Given the description of an element on the screen output the (x, y) to click on. 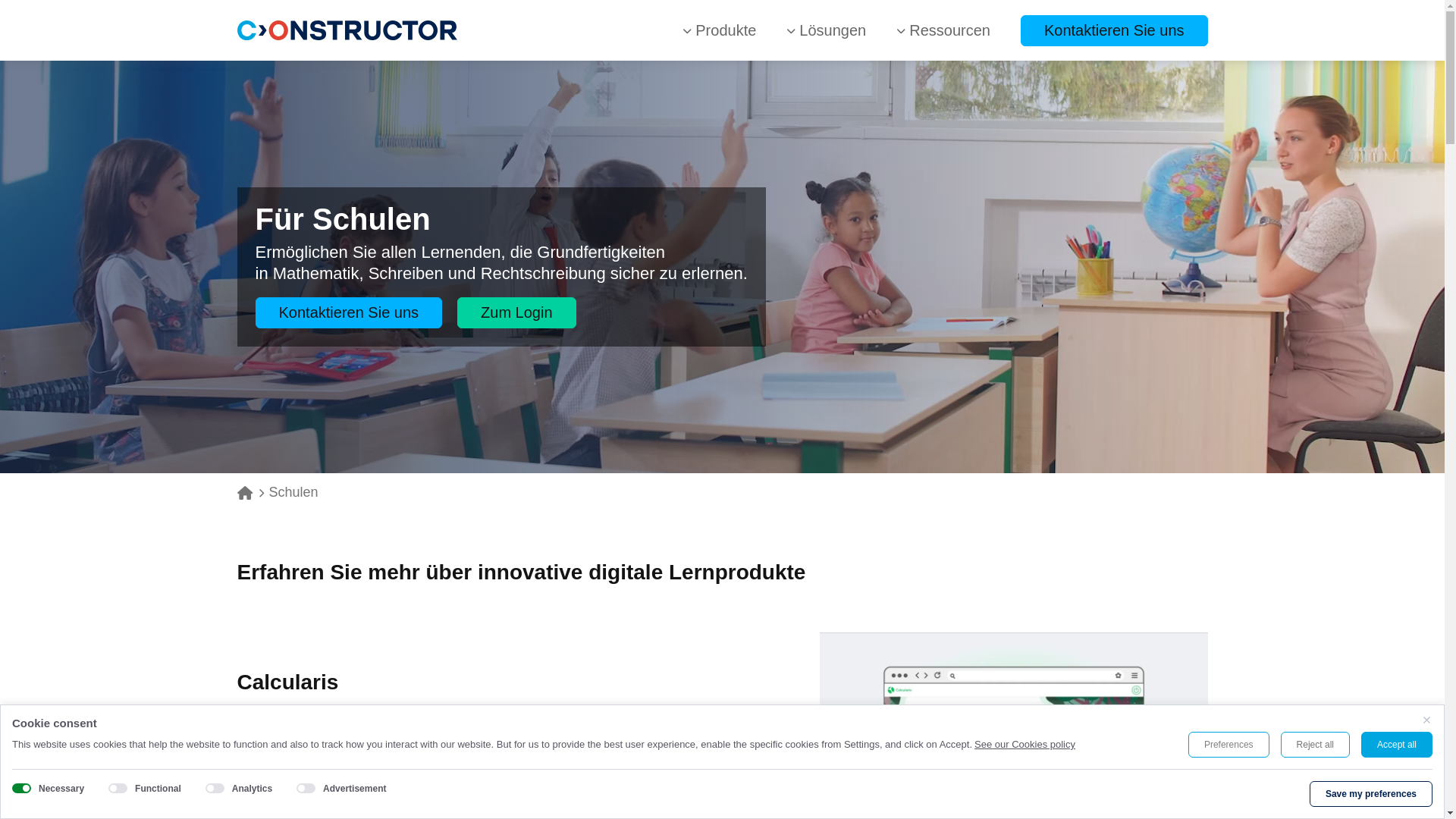
Accept all Element type: text (1396, 744)
Kontaktieren Sie uns Element type: text (1114, 30)
Ressourcen Element type: text (943, 29)
Zum Login Element type: text (516, 312)
Produkte Element type: text (719, 29)
Save my preferences Element type: text (1370, 793)
Reject all Element type: text (1314, 744)
Skip to main content Element type: text (0, 0)
See our Cookies policy Element type: text (1024, 743)
Kontaktieren Sie uns Element type: text (348, 312)
Preferences Element type: text (1228, 744)
